Given the description of an element on the screen output the (x, y) to click on. 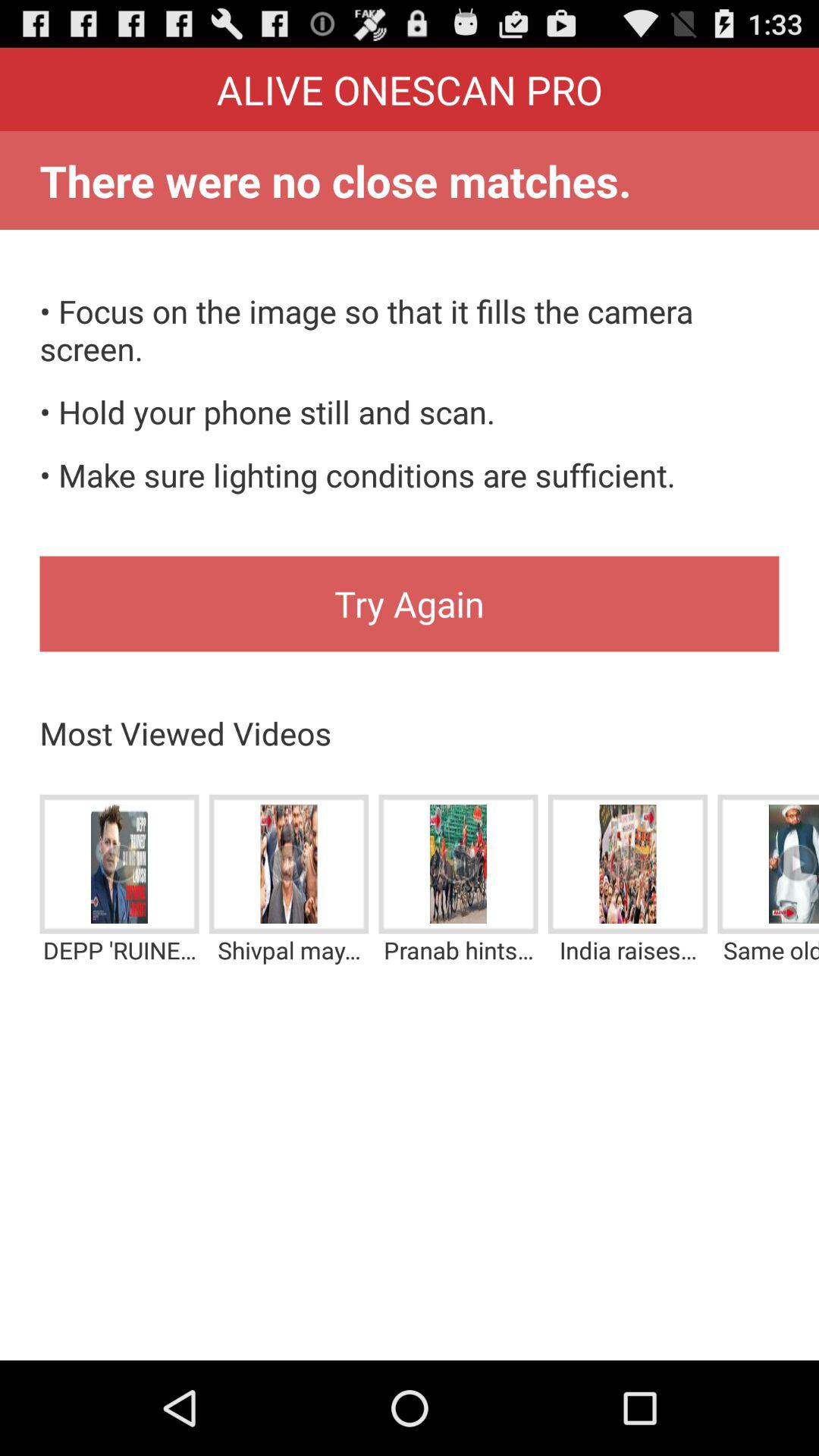
launch the try again item (409, 603)
